Given the description of an element on the screen output the (x, y) to click on. 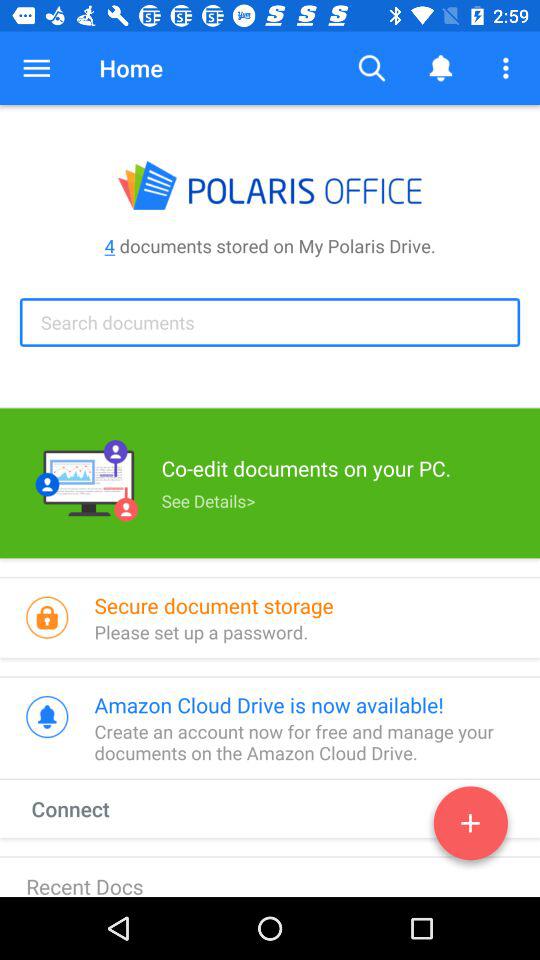
select icon to the left of the home button (36, 68)
